Given the description of an element on the screen output the (x, y) to click on. 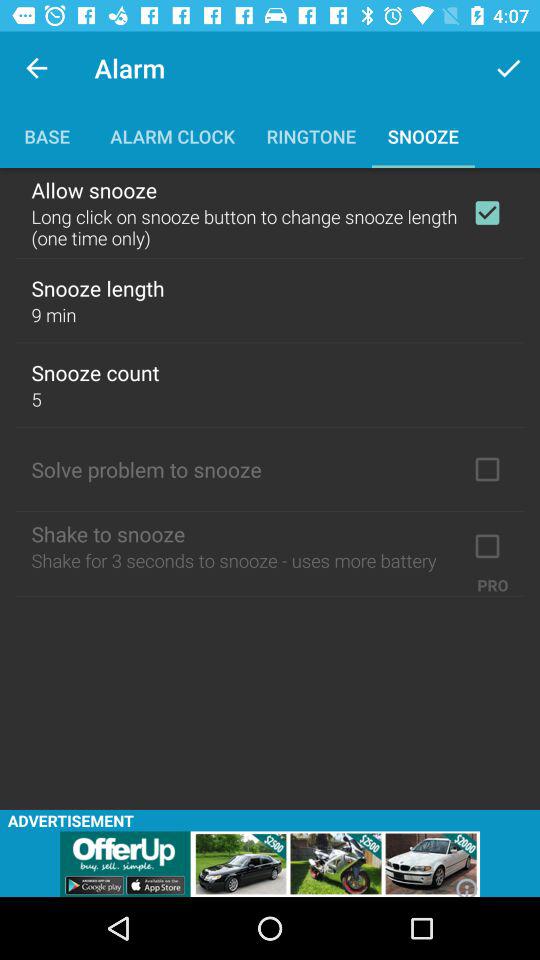
click to check box (487, 546)
